Given the description of an element on the screen output the (x, y) to click on. 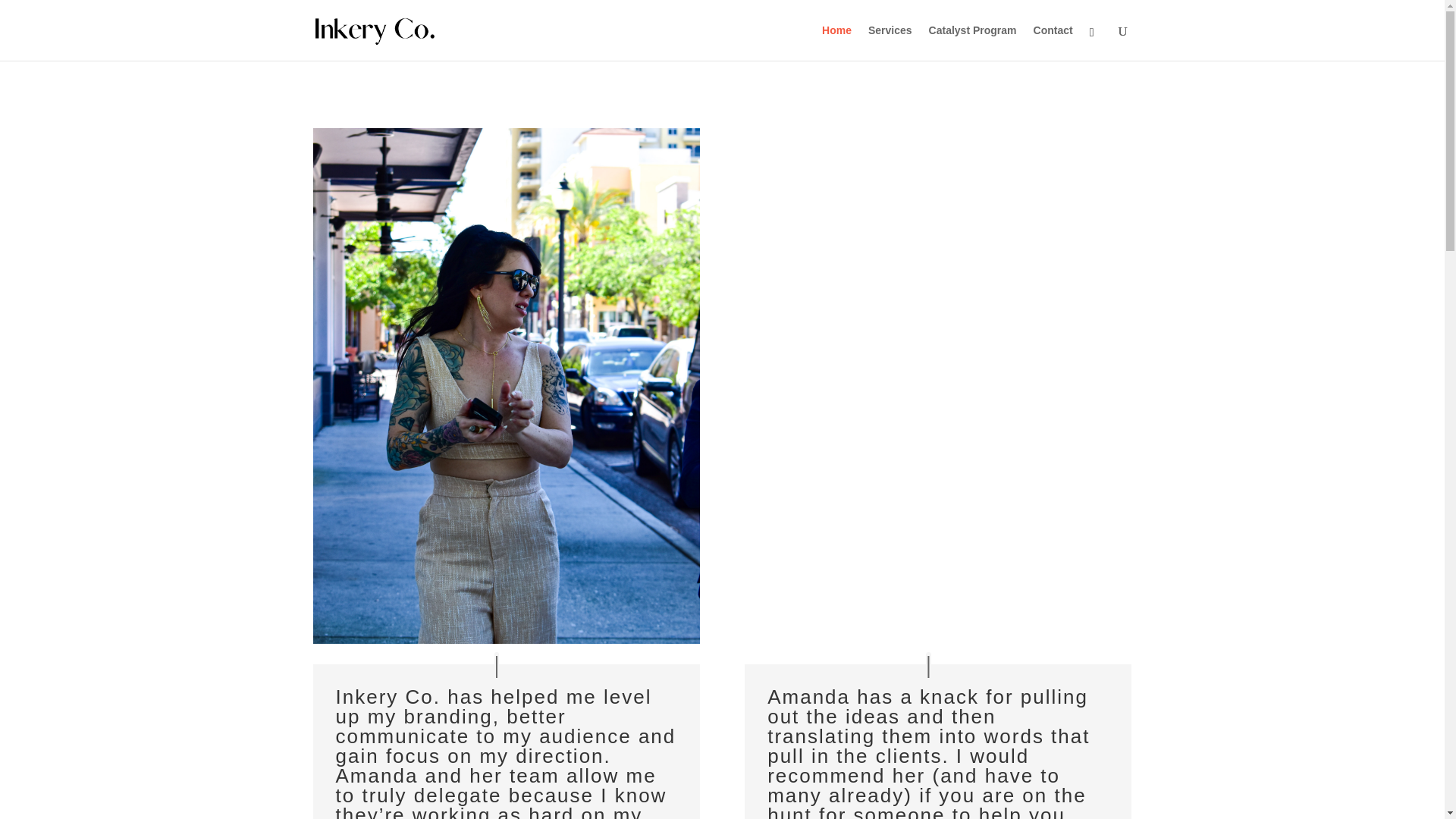
Catalyst Program (972, 42)
Services (889, 42)
Contact (1053, 42)
